Given the description of an element on the screen output the (x, y) to click on. 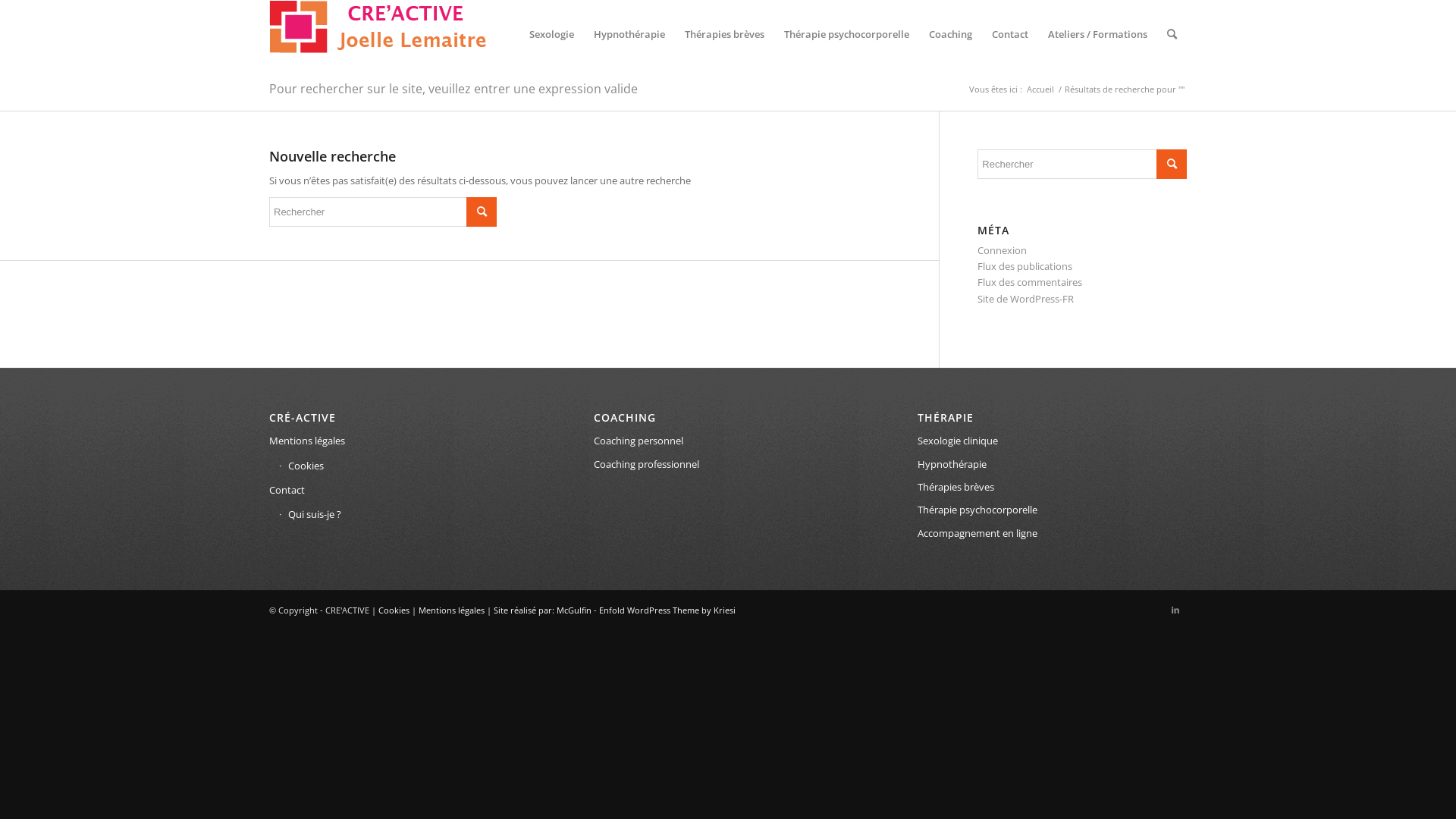
Flux des commentaires Element type: text (1029, 281)
Connexion Element type: text (1001, 250)
logoJ Element type: hover (377, 28)
Contact Element type: text (1010, 33)
Sexologie clinique Element type: text (1051, 440)
Accueil Element type: text (1040, 88)
Sexologie Element type: text (551, 33)
Ateliers / Formations Element type: text (1097, 33)
LinkedIn Element type: hover (1175, 609)
Qui suis-je ? Element type: text (408, 514)
Cookies Element type: text (393, 609)
Cookies Element type: text (408, 466)
Flux des publications Element type: text (1024, 266)
Coaching Element type: text (950, 33)
Coaching personnel Element type: text (727, 440)
Accompagnement en ligne Element type: text (1051, 533)
Site de WordPress-FR Element type: text (1025, 298)
Coaching professionnel Element type: text (727, 464)
Enfold WordPress Theme by Kriesi Element type: text (667, 609)
Contact Element type: text (403, 490)
